Given the description of an element on the screen output the (x, y) to click on. 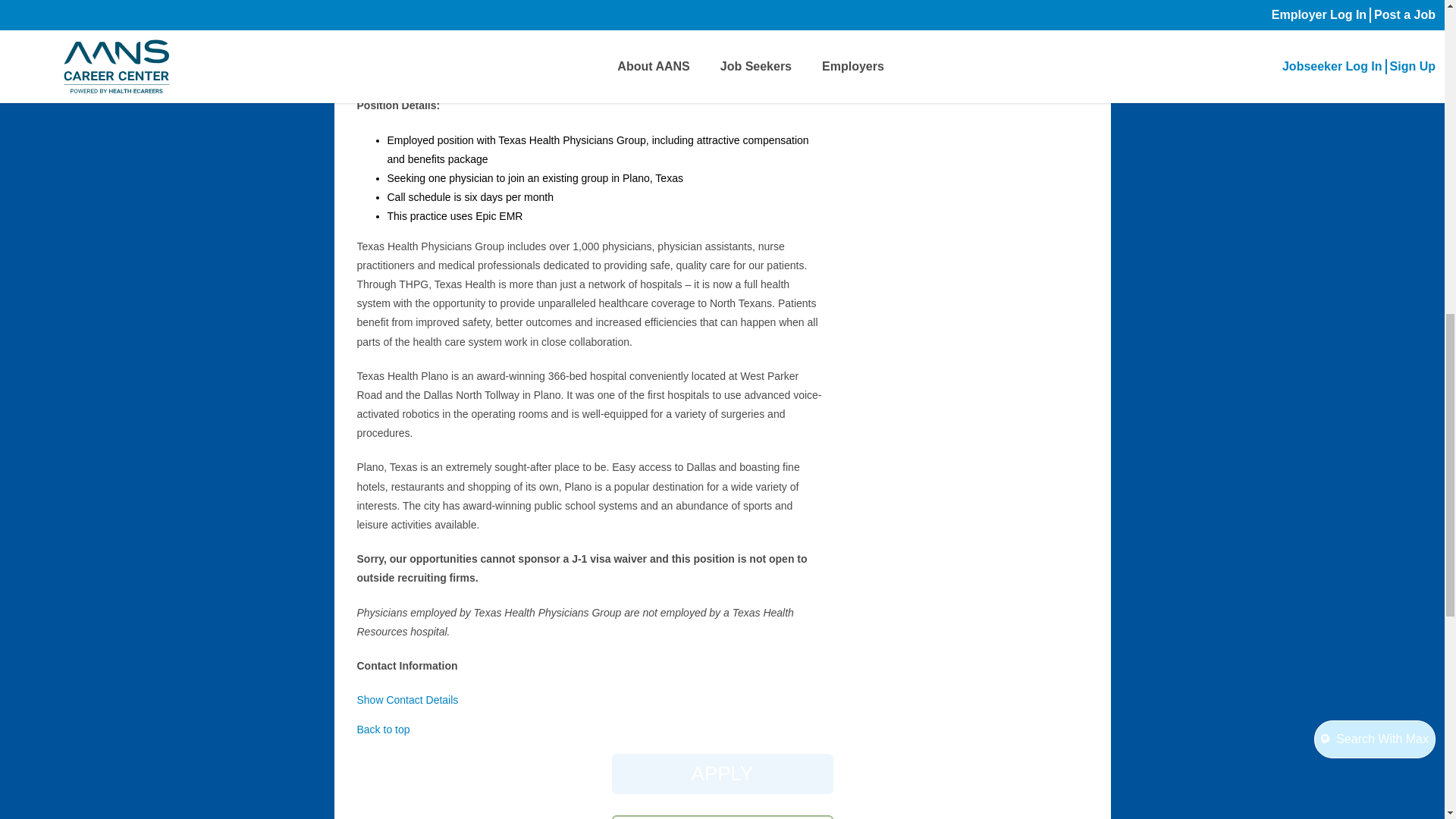
facebook (906, 4)
twitter (946, 4)
linkedin (985, 4)
email (1024, 4)
